Given the description of an element on the screen output the (x, y) to click on. 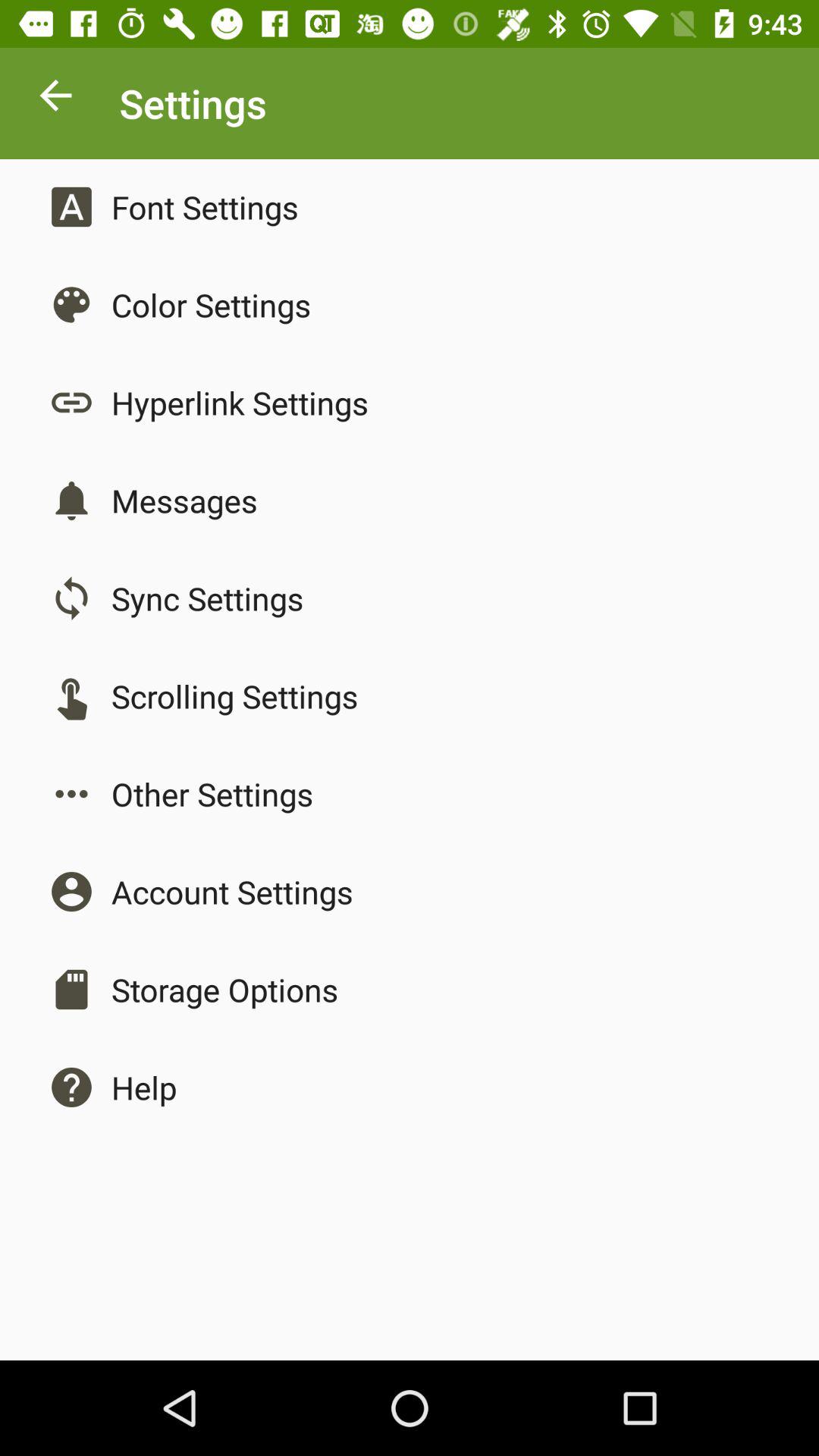
open item to the left of settings icon (55, 99)
